Given the description of an element on the screen output the (x, y) to click on. 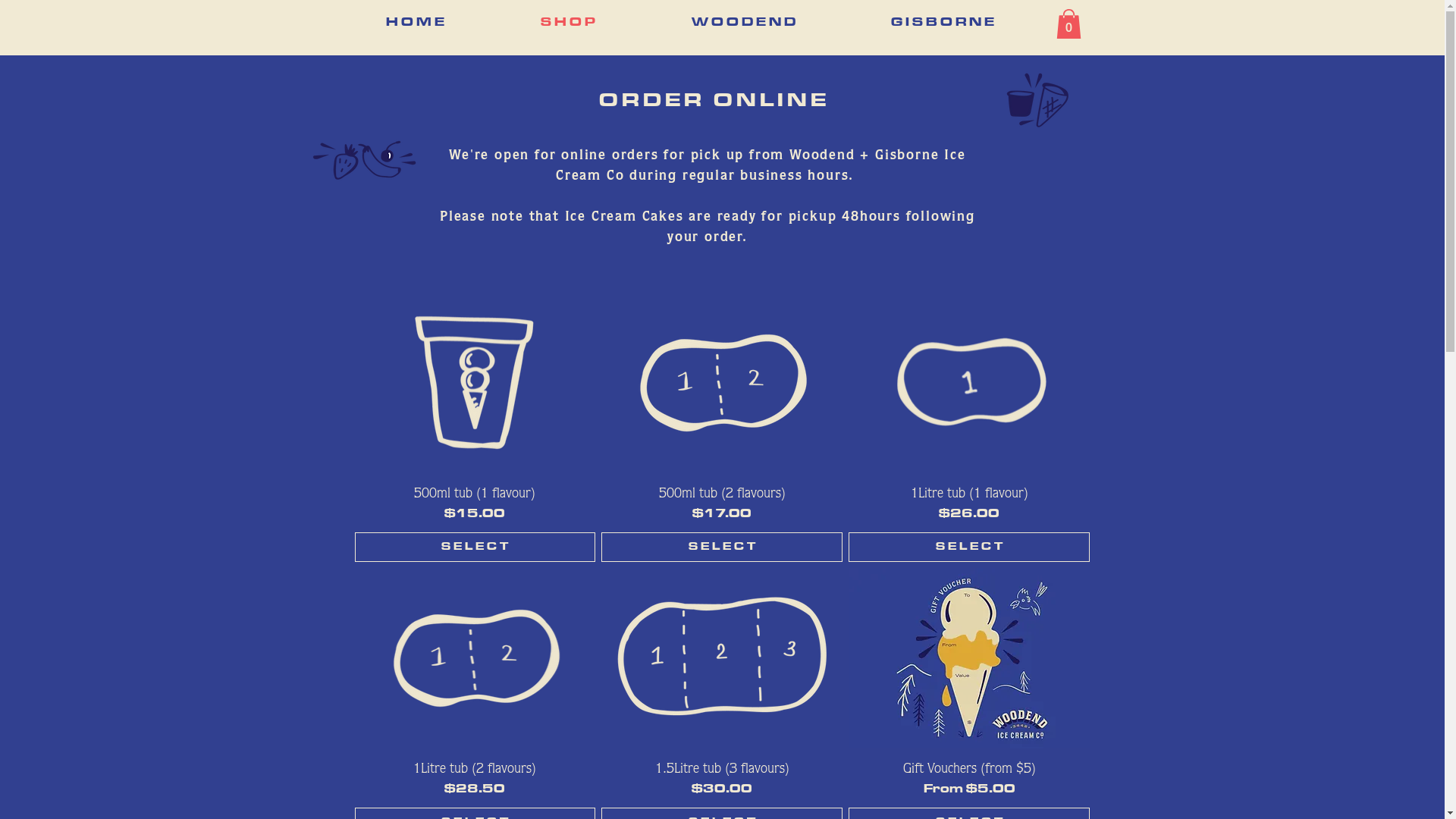
S E L E C T Element type: text (721, 546)
500ml tub (2 flavours)
Price
$17.00 Element type: text (721, 504)
1.5Litre tub (3 flavours)
Price
$30.00 Element type: text (721, 779)
1Litre tub (1 flavour)
Price
$26.00 Element type: text (968, 504)
S H O P Element type: text (567, 22)
S E L E C T Element type: text (968, 546)
1Litre tub (2 flavours)
Price
$28.50 Element type: text (475, 779)
S E L E C T Element type: text (475, 546)
500ml tub (1 flavour)
Price
$15.00 Element type: text (475, 504)
Gift Vouchers (from $5)
Price
From $5.00 Element type: text (968, 779)
G I S B O R N E Element type: text (942, 22)
W O O D E N D Element type: text (742, 22)
0 Element type: text (1067, 23)
H O M E Element type: text (415, 22)
